Given the description of an element on the screen output the (x, y) to click on. 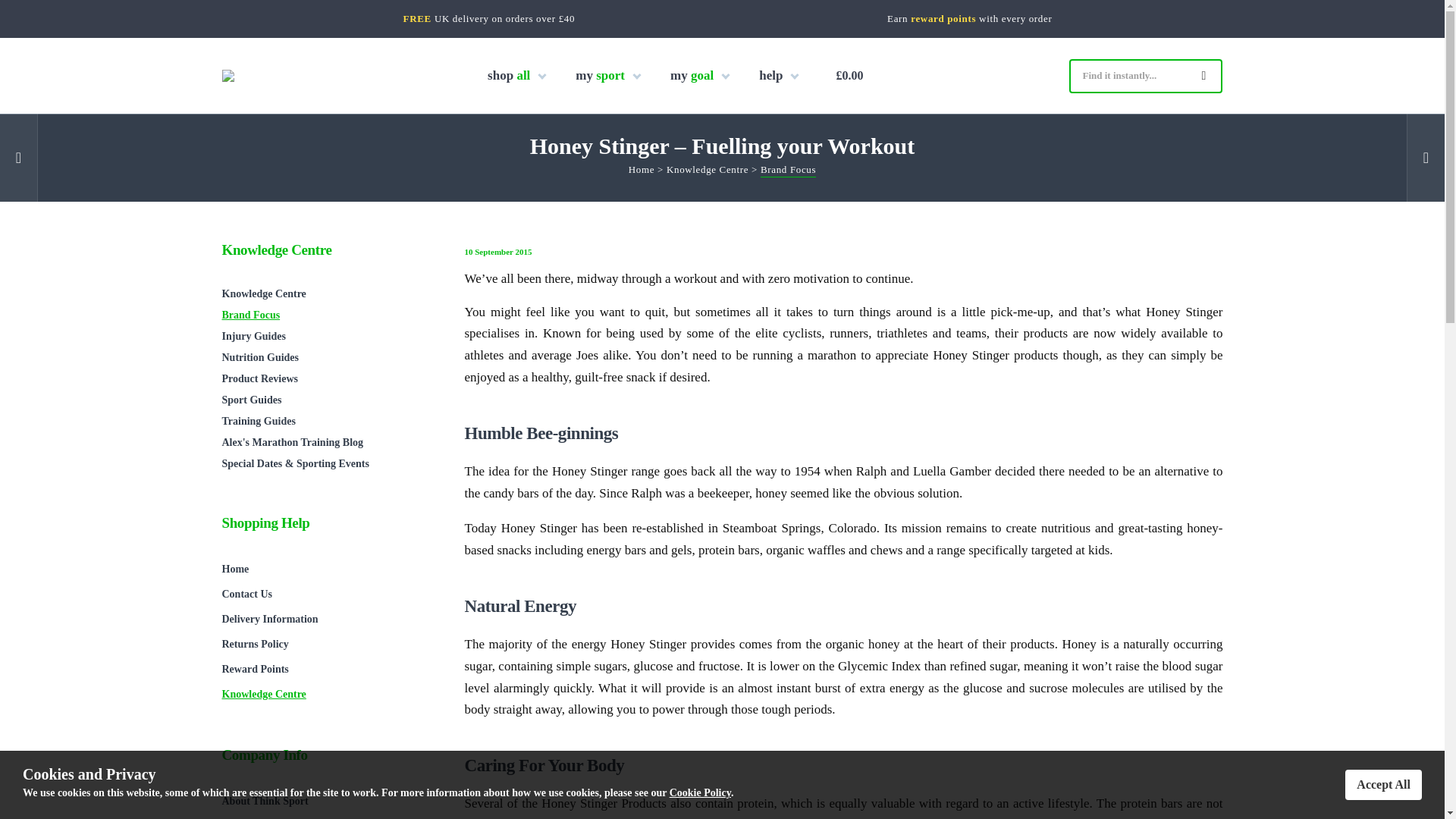
Home (640, 170)
Sport Guides (327, 400)
Nutrition Guides (327, 357)
Training Guides (327, 421)
Injury Guides (327, 336)
Brand Focus (787, 170)
Product Reviews (327, 378)
Customer reviews powered by Trustpilot (726, 21)
Knowledge Centre (327, 293)
Returns Policy (327, 643)
